Given the description of an element on the screen output the (x, y) to click on. 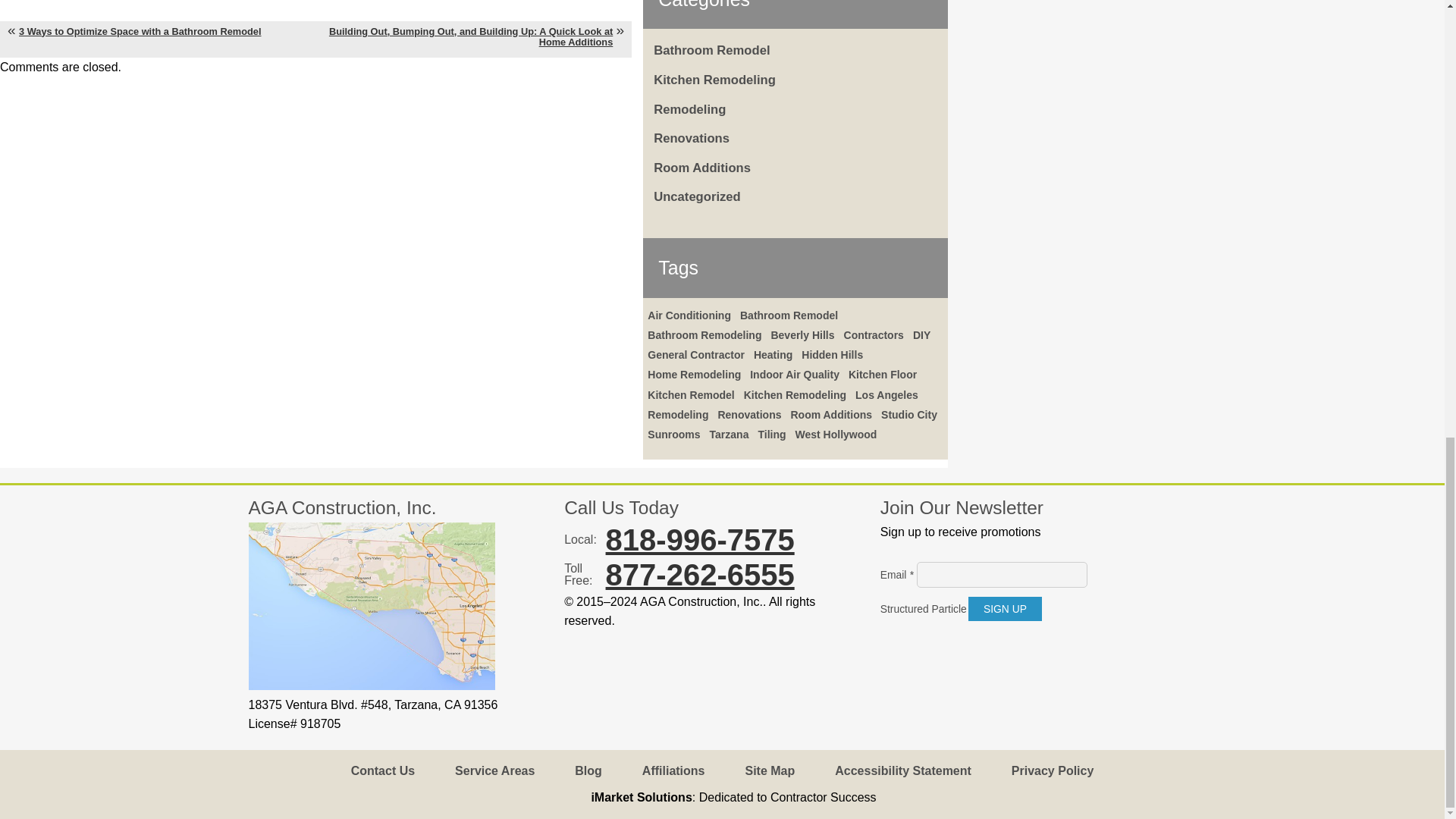
AGA Construction, Inc. on Yelp (948, 648)
AGA Construction, Inc. on YouTube (892, 648)
View a map of our service areas (371, 686)
AGA Construction, Inc. on Facebook (920, 648)
AGA Construction, Inc. on Pinterest (977, 648)
